Given the description of an element on the screen output the (x, y) to click on. 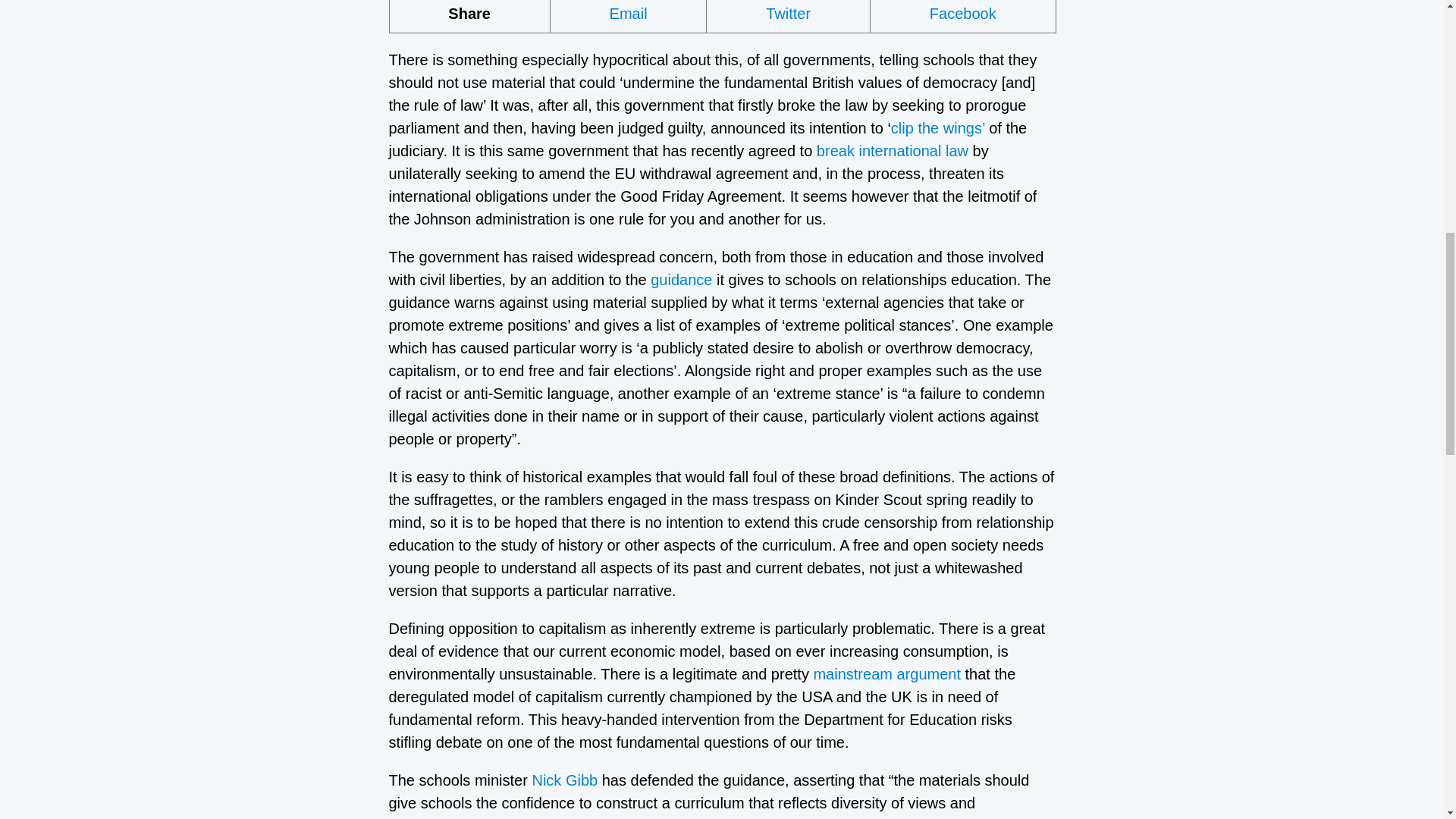
Twitter (788, 16)
break international law (892, 150)
Nick Gibb (563, 780)
mainstream argument (886, 673)
Email (628, 16)
guidance (679, 279)
not a view (866, 818)
